Given the description of an element on the screen output the (x, y) to click on. 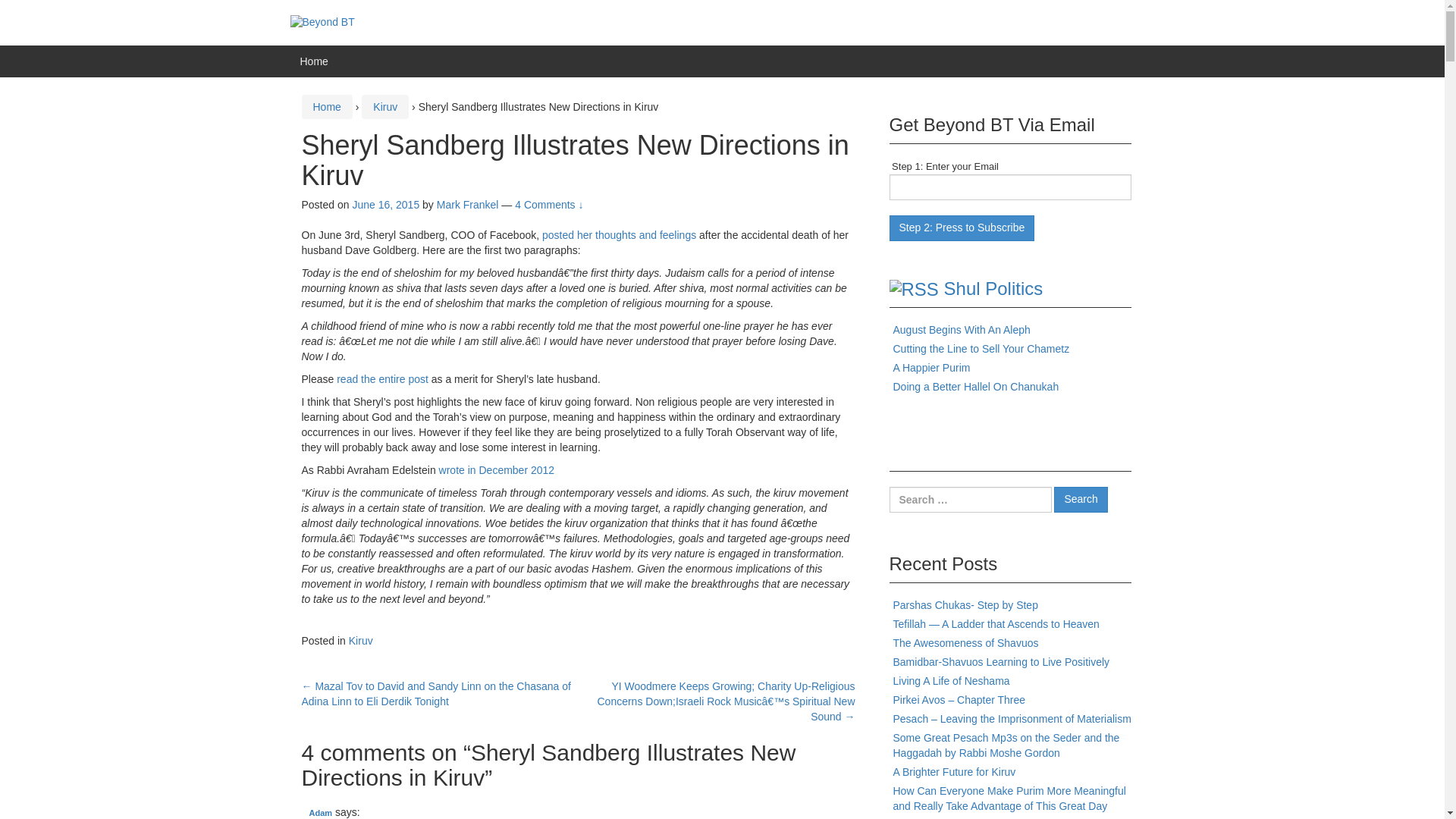
Step 2: Press to Subscribe (960, 227)
Parshas Chukas- Step by Step (965, 604)
Bamidbar-Shavuos Learning to Live Positively (1001, 662)
Search (1080, 499)
June 16, 2015 (385, 204)
Search (1080, 499)
View all posts by Mark Frankel (467, 204)
Living A Life of Neshama (951, 680)
Home (314, 61)
Mark Frankel (467, 204)
Shul Politics (993, 288)
Cutting the Line to Sell Your Chametz (981, 348)
Beyond BT (321, 21)
The Awesomeness of Shavuos (966, 643)
Kiruv (384, 106)
